Given the description of an element on the screen output the (x, y) to click on. 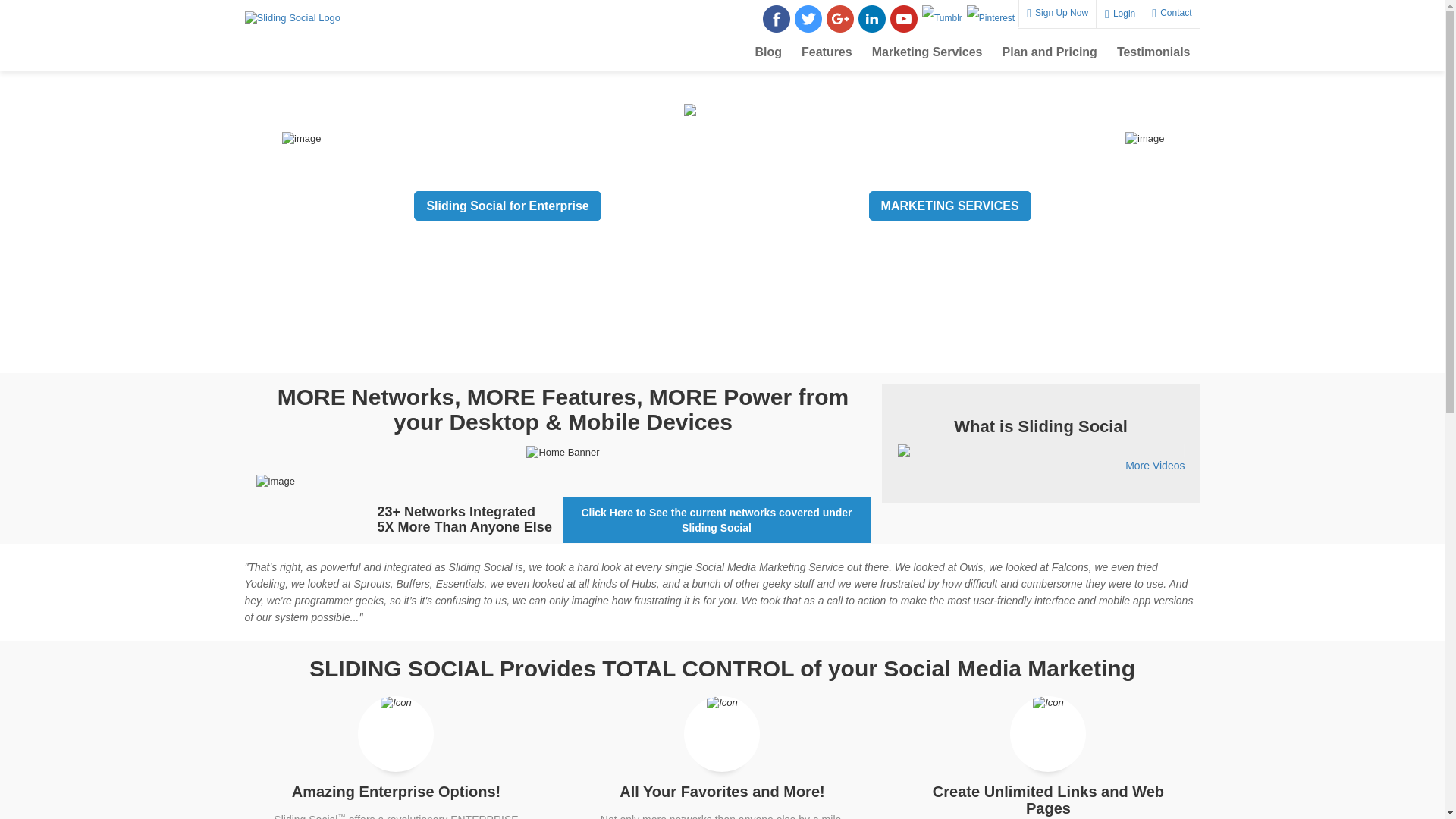
Login (1119, 13)
Sign up (674, 223)
MARKETING SERVICES (940, 211)
Plan and Pricing (1049, 51)
Marketing Services (926, 51)
Sign Up Now (1057, 13)
Request for a Free Demo (777, 216)
Testimonials (1152, 51)
Features (826, 51)
